Given the description of an element on the screen output the (x, y) to click on. 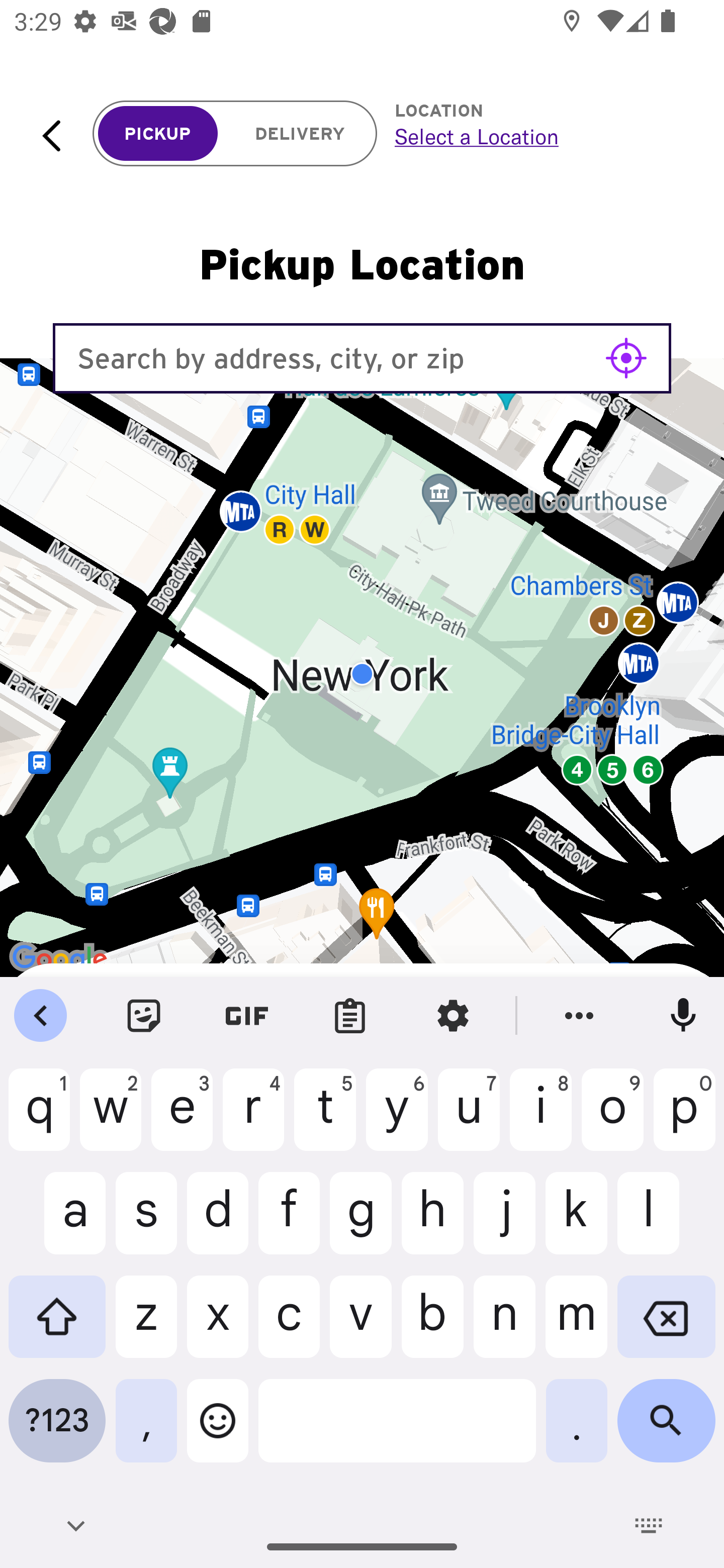
PICKUP (157, 133)
DELIVERY (299, 133)
Select a Location (536, 136)
Search by address, city, or zip (361, 358)
Google Map (362, 674)
